Given the description of an element on the screen output the (x, y) to click on. 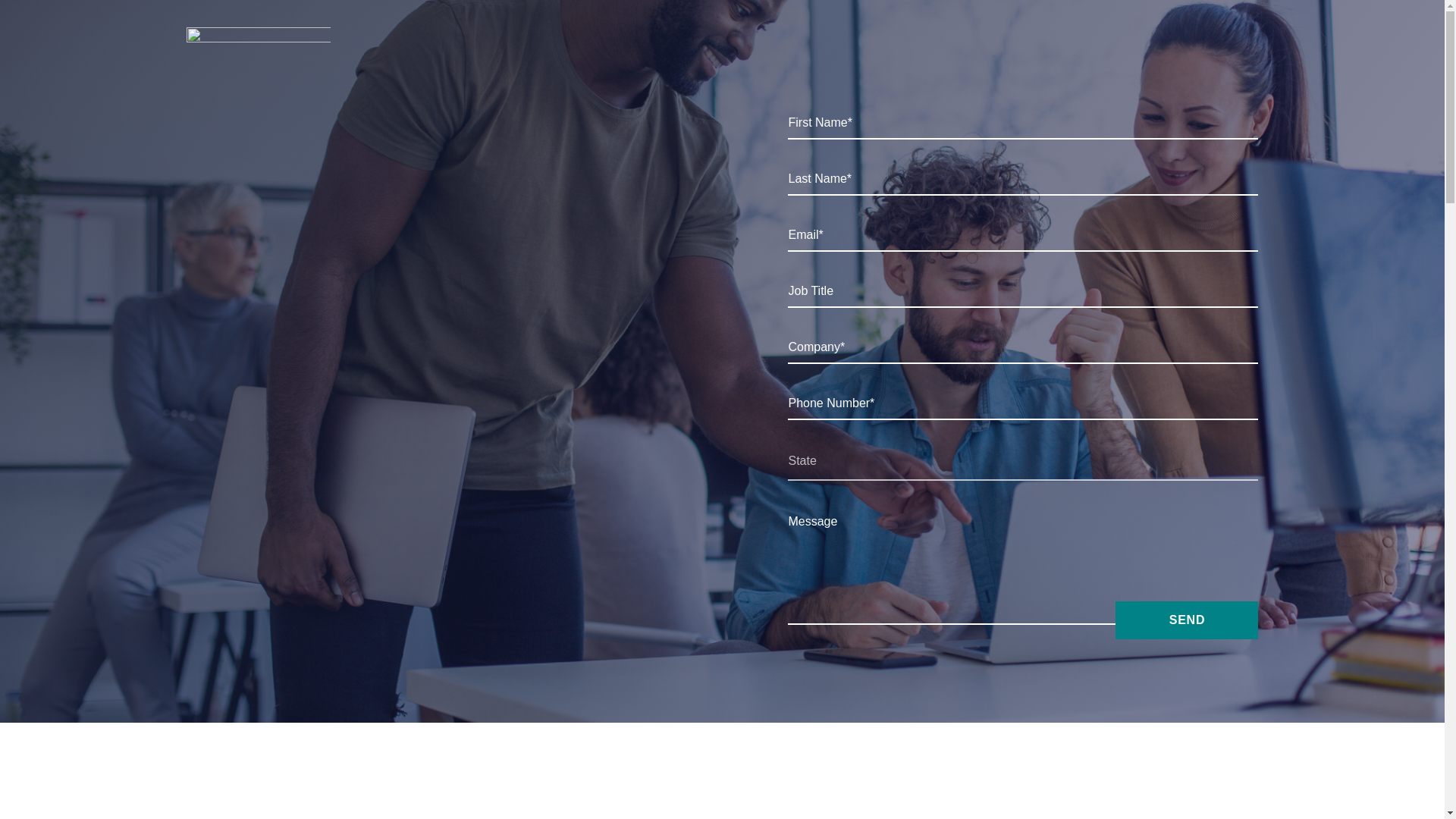
Sparq (258, 41)
Send (1186, 620)
Send (1186, 620)
